Given the description of an element on the screen output the (x, y) to click on. 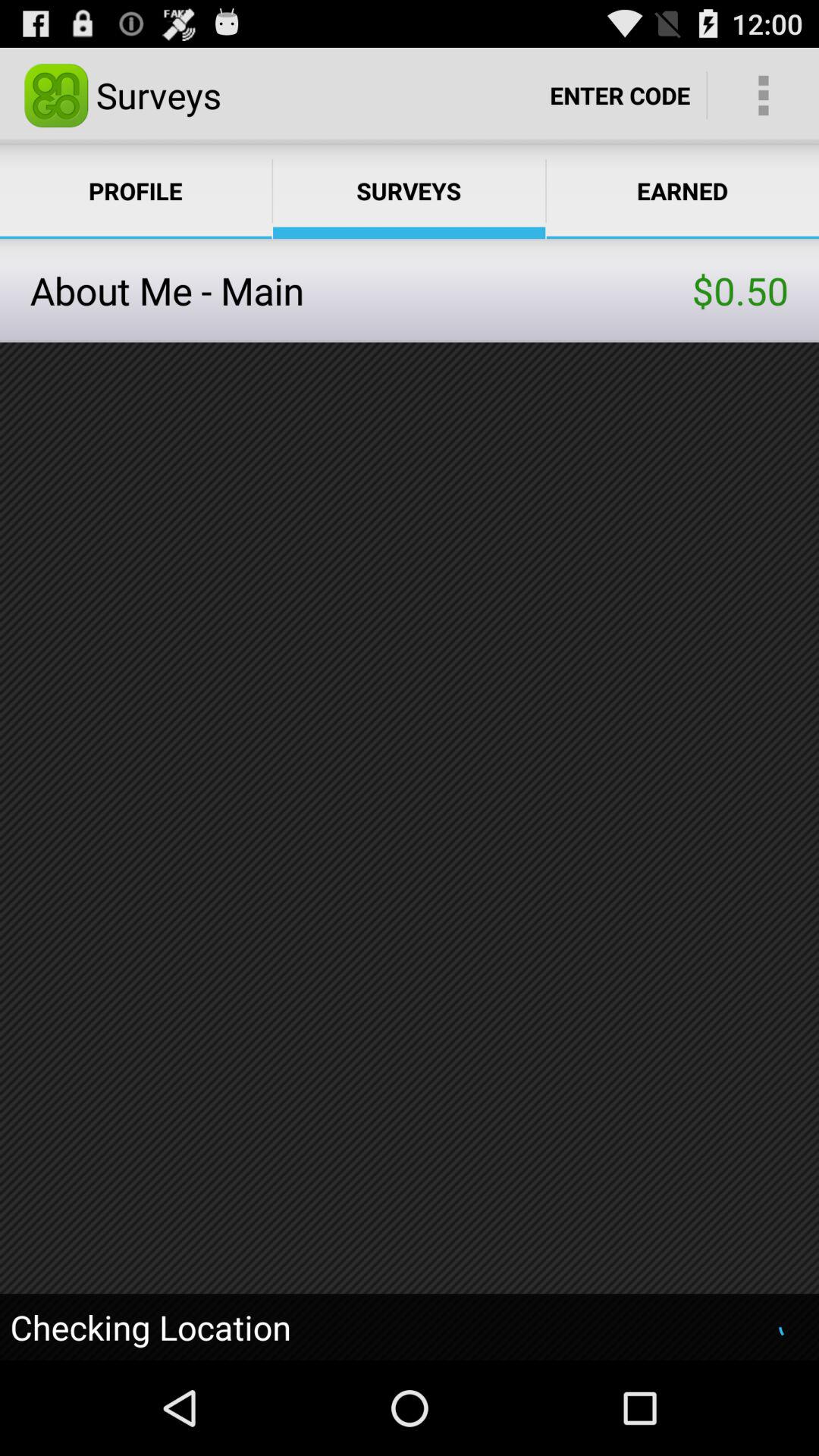
tap the icon next to enter code item (763, 95)
